Given the description of an element on the screen output the (x, y) to click on. 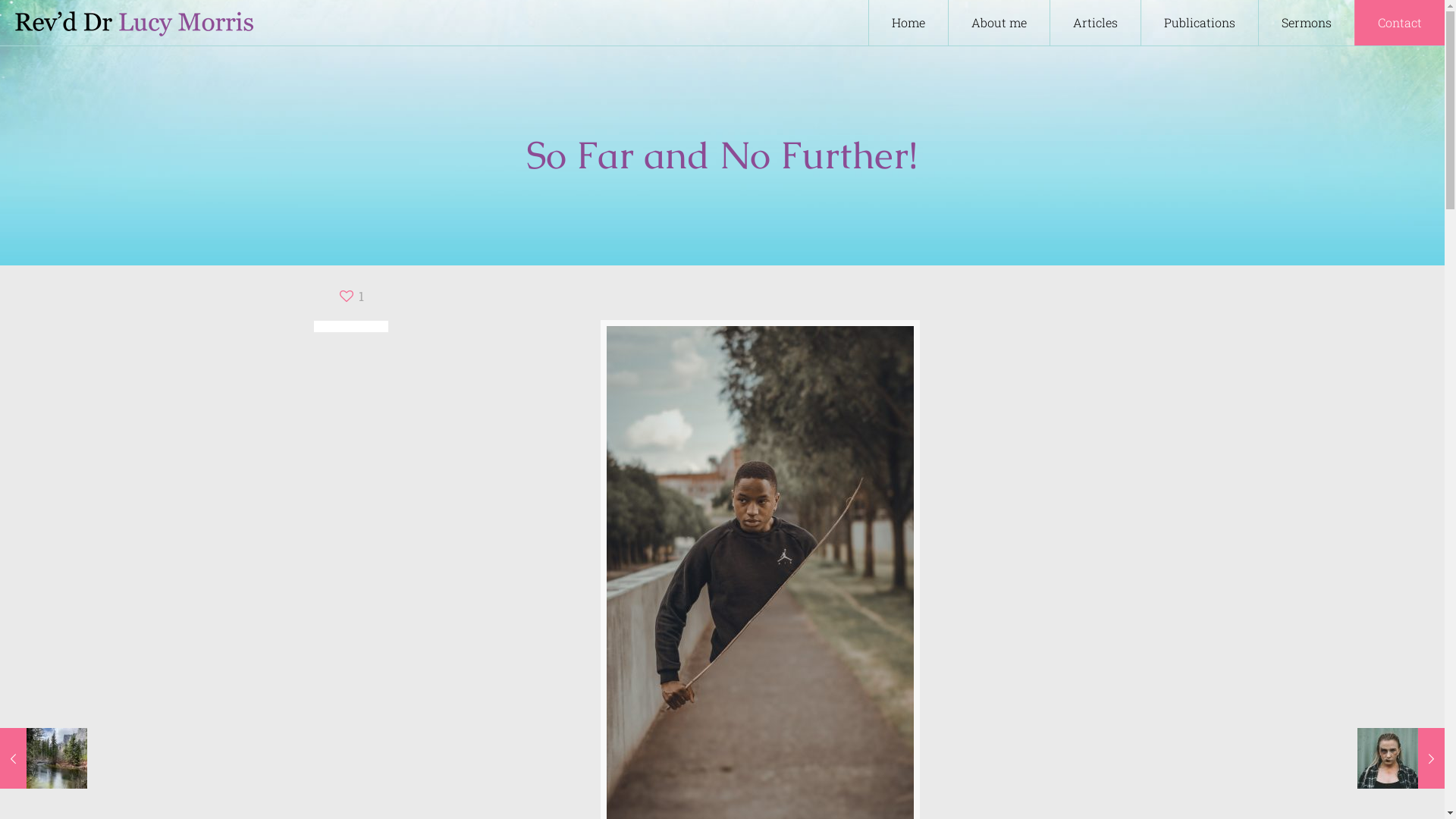
contact page Element type: text (994, 543)
Civil Society Element type: text (729, 522)
1 Element type: text (350, 296)
Publications Element type: text (1199, 22)
Contact Element type: text (1399, 22)
About me Element type: text (999, 22)
Human Rights Element type: text (729, 608)
Leadership Element type: text (729, 637)
Faith Element type: text (729, 550)
Home Element type: text (908, 22)
Website by OnlineForLess Element type: hover (590, 787)
Gender Equality Element type: text (729, 579)
Articles Element type: text (1095, 22)
Poverty Reduction Element type: text (729, 666)
Sermons Element type: text (1306, 22)
Rev'd Dr Lucy Morris Element type: text (399, 786)
Social Justice Element type: text (729, 694)
Lucy Morris' Blog Element type: hover (134, 22)
